Given the description of an element on the screen output the (x, y) to click on. 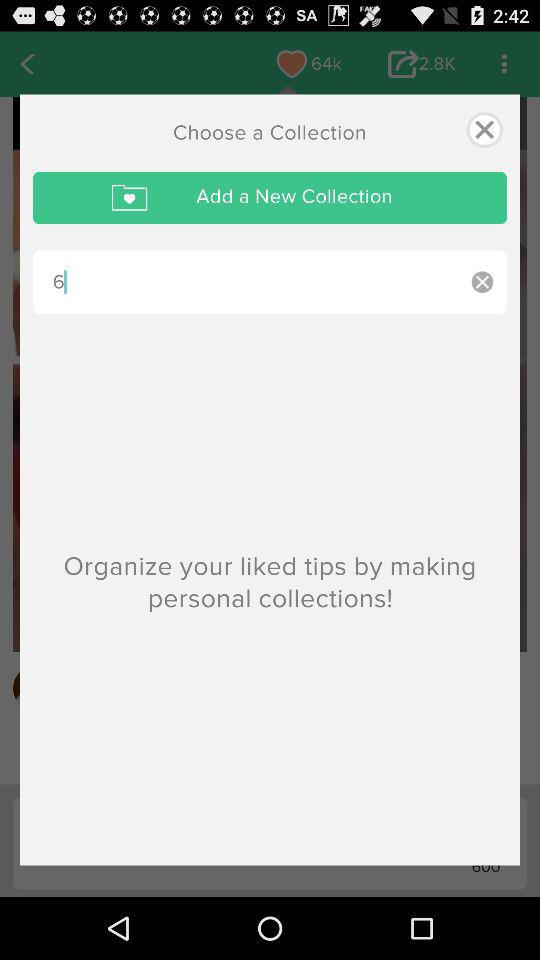
open the item below add a new icon (245, 281)
